Given the description of an element on the screen output the (x, y) to click on. 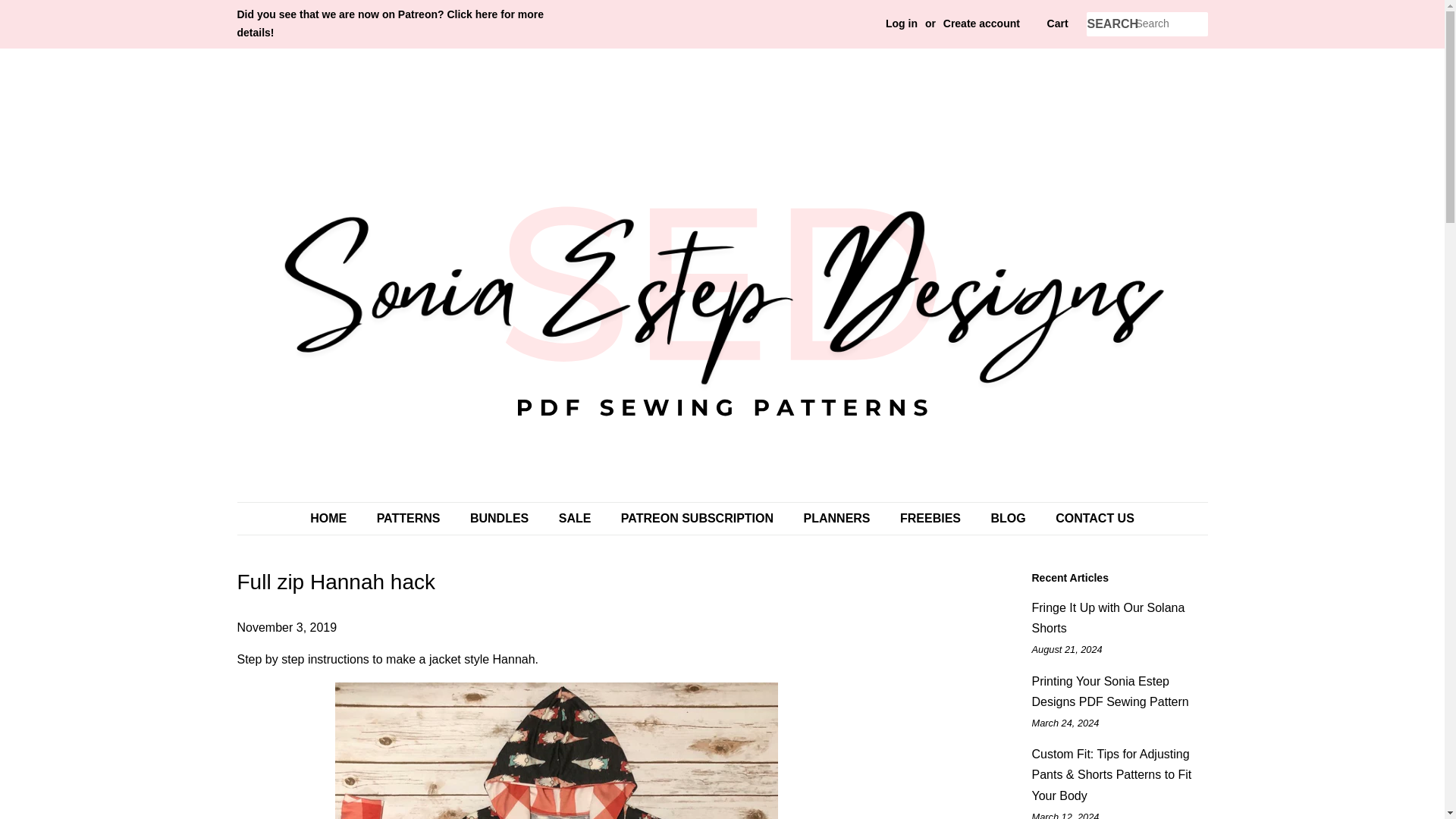
SEARCH (1110, 24)
Cart (1057, 24)
Create account (981, 23)
Log in (901, 23)
